Given the description of an element on the screen output the (x, y) to click on. 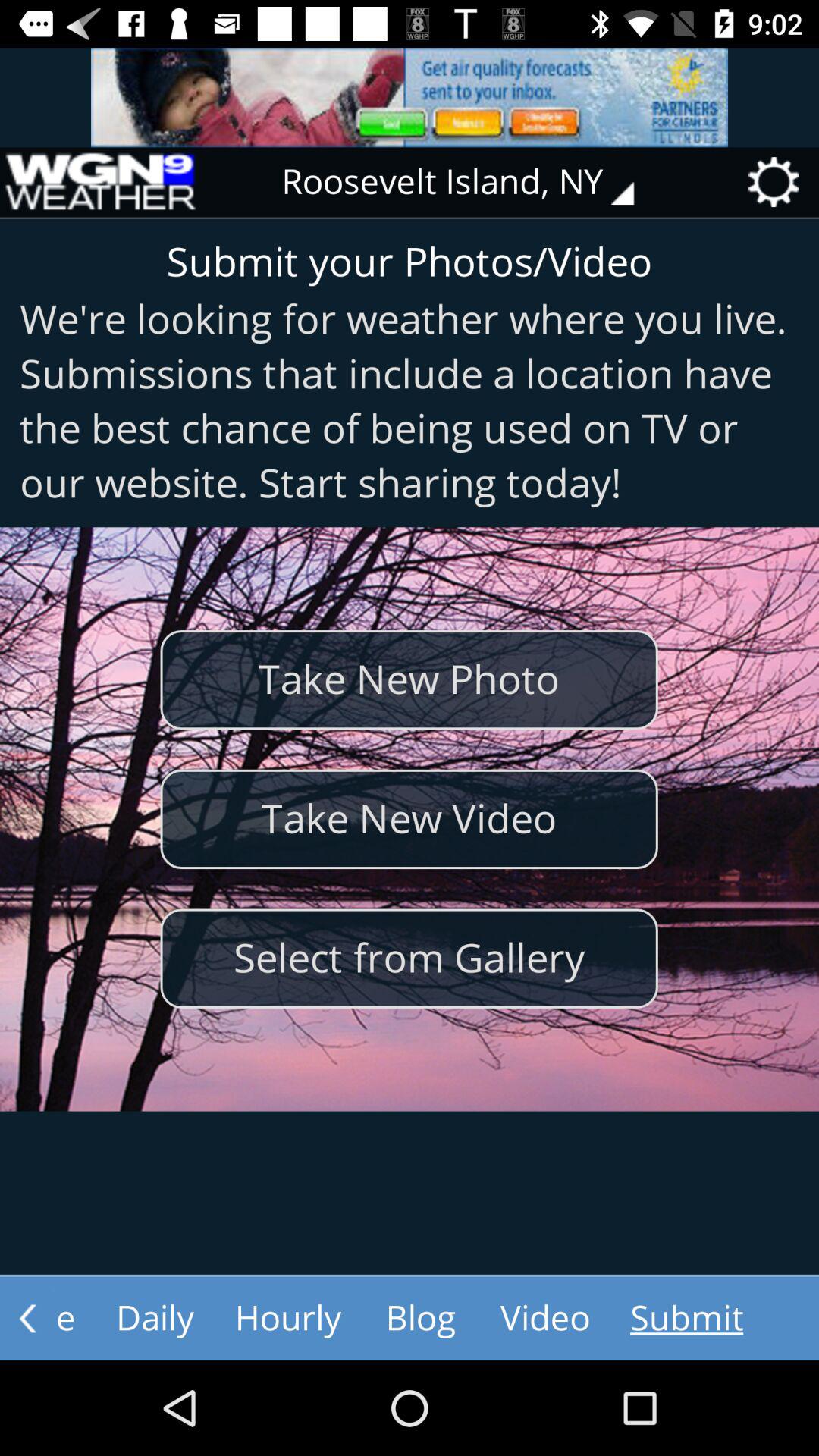
flip to roosevelt island, ny icon (468, 182)
